Given the description of an element on the screen output the (x, y) to click on. 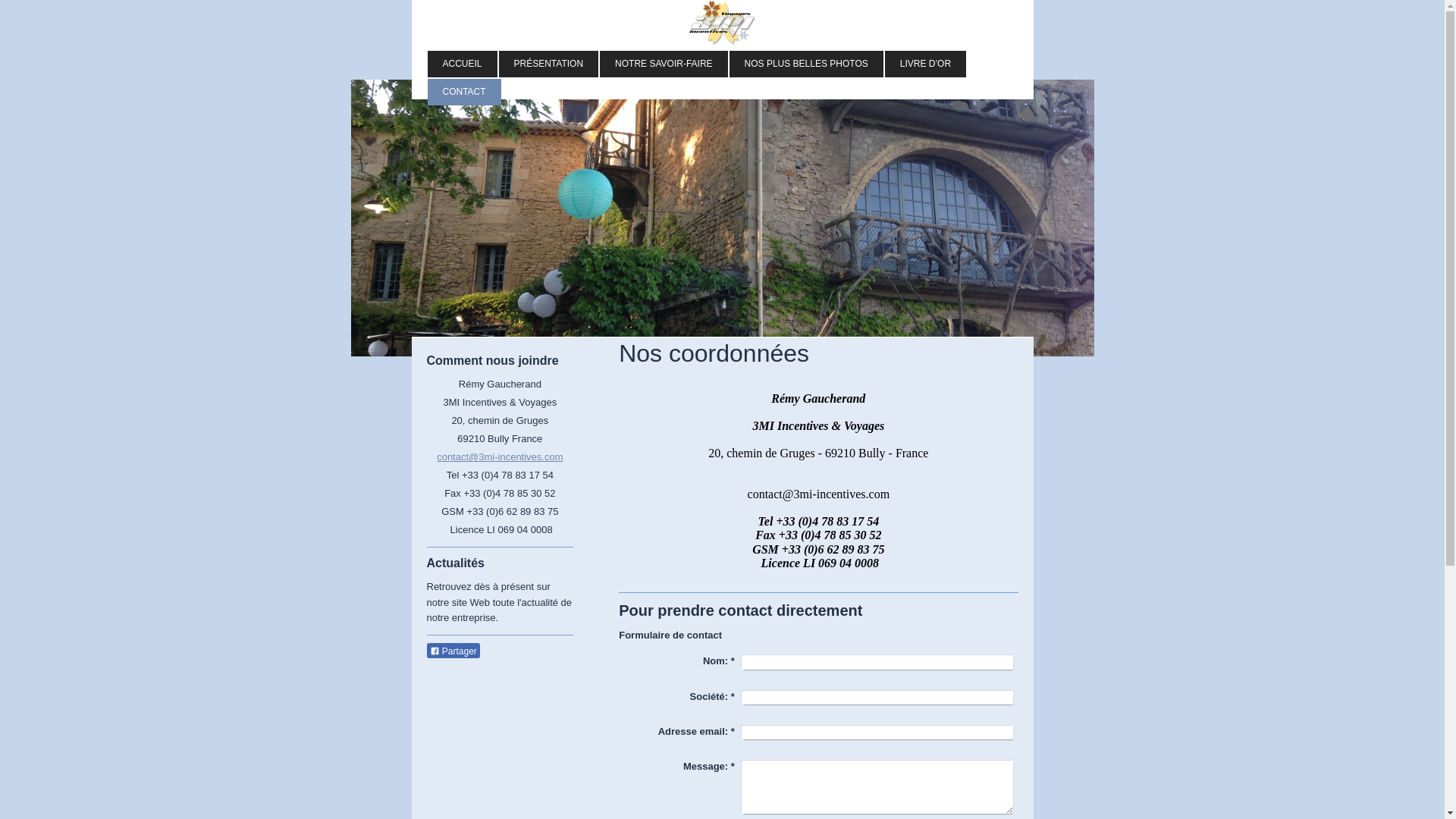
CONTACT Element type: text (464, 91)
Partager Element type: text (452, 650)
NOS PLUS BELLES PHOTOS Element type: text (806, 63)
ACCUEIL Element type: text (462, 63)
NOTRE SAVOIR-FAIRE Element type: text (663, 63)
contact@3mi-incentives.com Element type: text (818, 493)
contact@3mi-incentives.com Element type: text (499, 456)
